Given the description of an element on the screen output the (x, y) to click on. 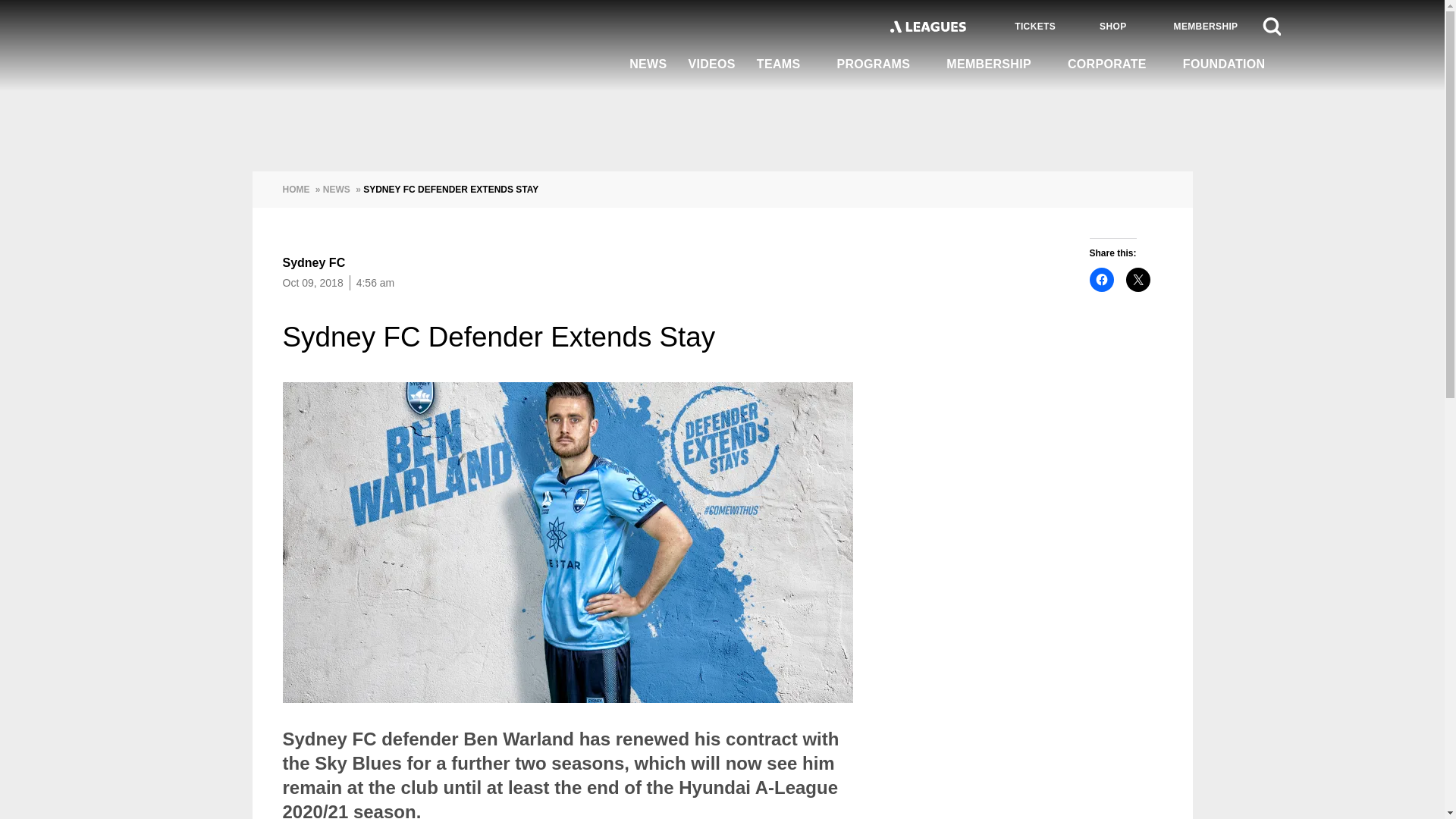
PROGRAMS (880, 64)
TEAMS (786, 64)
NEWS (647, 65)
VIDEOS (711, 65)
Click to share on Facebook (1101, 279)
Click to share on X (1137, 279)
